Given the description of an element on the screen output the (x, y) to click on. 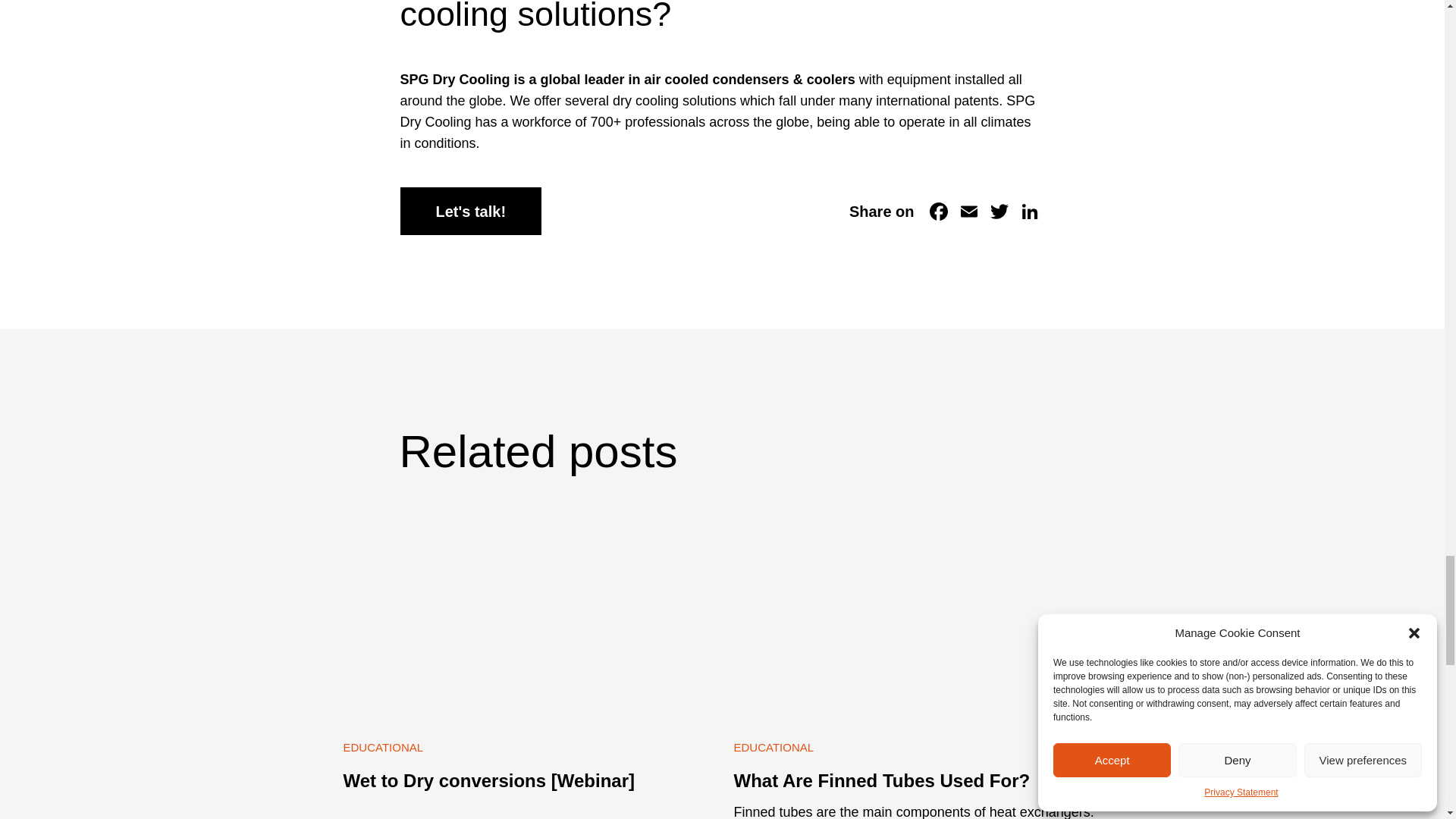
Twitter (999, 211)
Facebook (938, 211)
Email (968, 211)
LinkedIn (1029, 211)
